Given the description of an element on the screen output the (x, y) to click on. 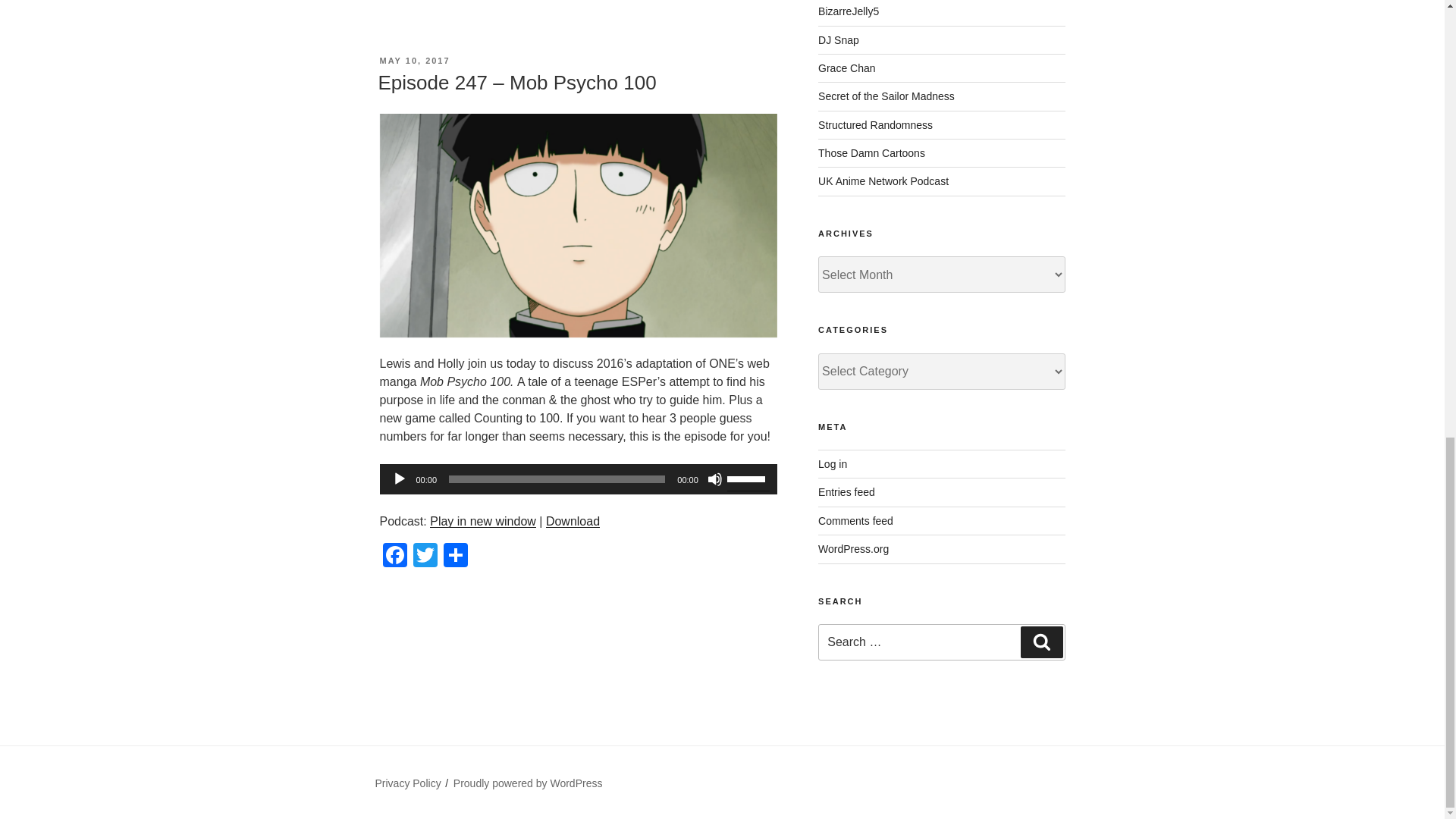
Mute (714, 478)
Facebook (393, 556)
No topic is off topic! (875, 124)
A clear-eyed and passionate look at Japanese animation (871, 152)
MAY 10, 2017 (413, 60)
Animator Grace! (846, 68)
Twitter (424, 556)
Facebook (393, 556)
Play (398, 478)
Play in new window (482, 521)
Download (572, 521)
Play in new window (482, 521)
Download (572, 521)
